Given the description of an element on the screen output the (x, y) to click on. 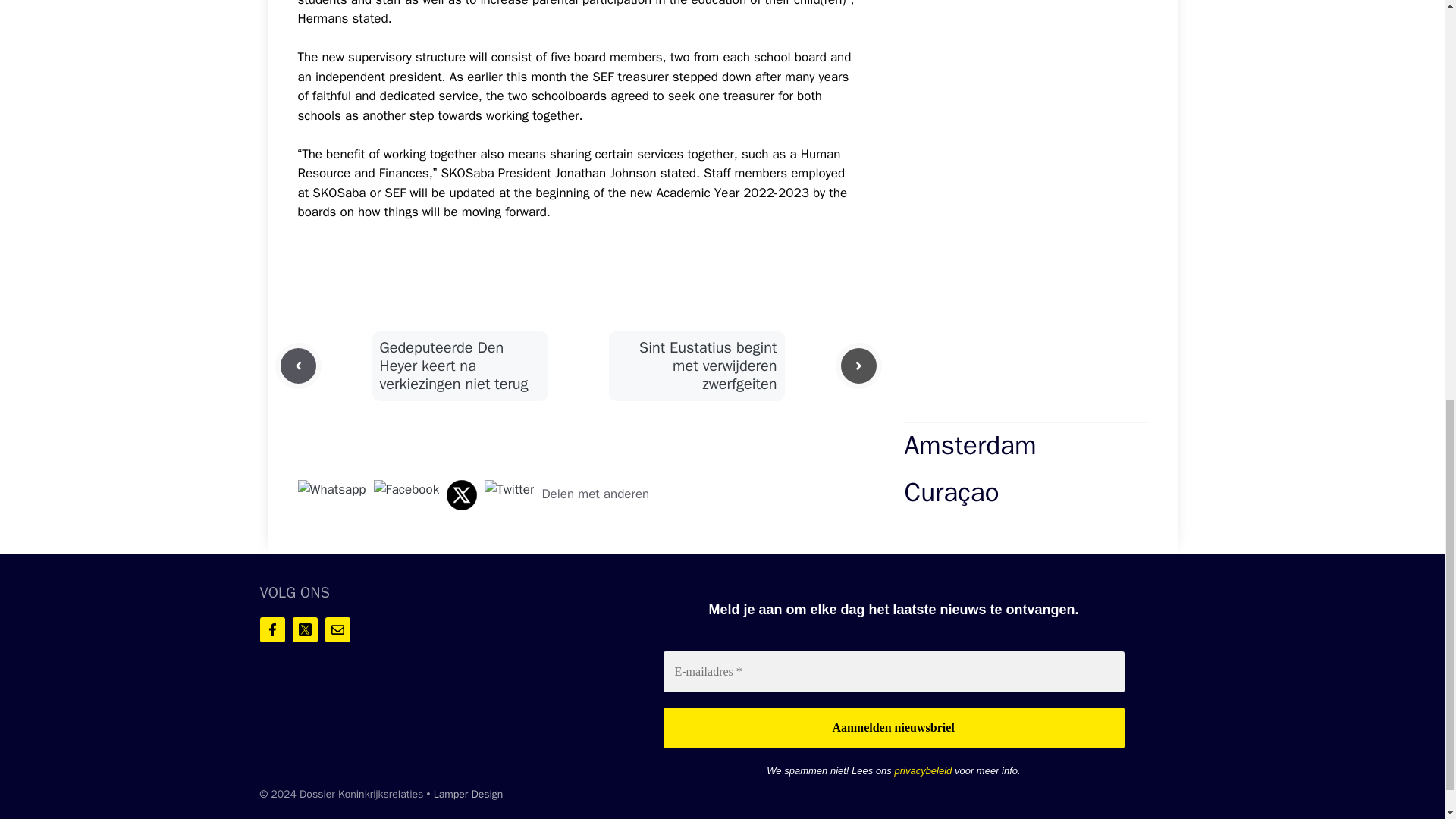
Sint Eustatius begint met verwijderen zwerfgeiten (708, 365)
Aanmelden nieuwsbrief (893, 727)
Aanmelden nieuwsbrief (893, 727)
Delen via Email (509, 489)
Lamper Design (468, 793)
Gedeputeerde Den Heyer keert na verkiezingen niet terug (452, 365)
E-mailadres (893, 671)
privacybeleid (922, 770)
